Given the description of an element on the screen output the (x, y) to click on. 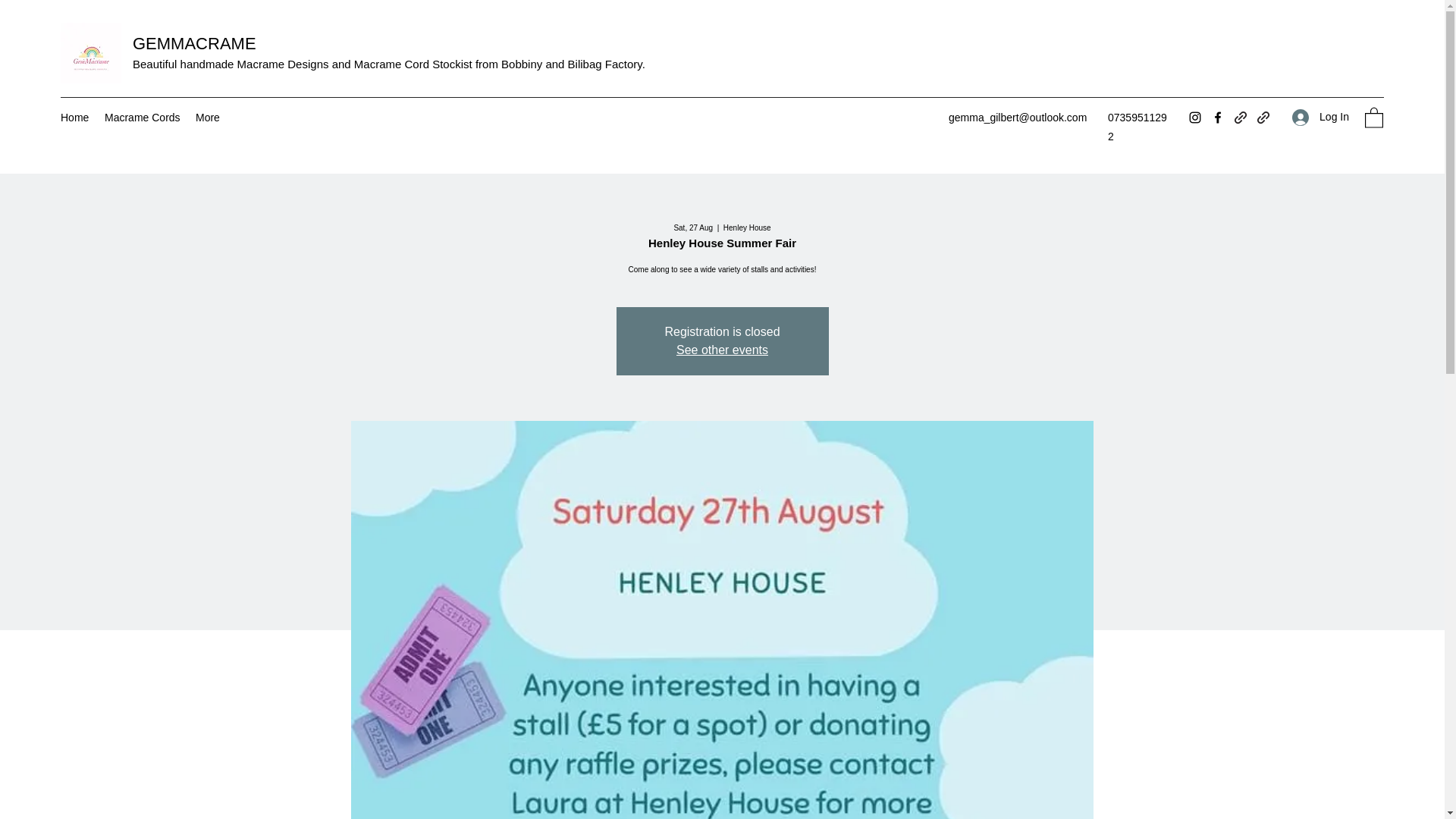
Home (74, 117)
See other events (722, 349)
Macrame Cords (142, 117)
GEMMACRAME (194, 43)
Log In (1320, 117)
